Given the description of an element on the screen output the (x, y) to click on. 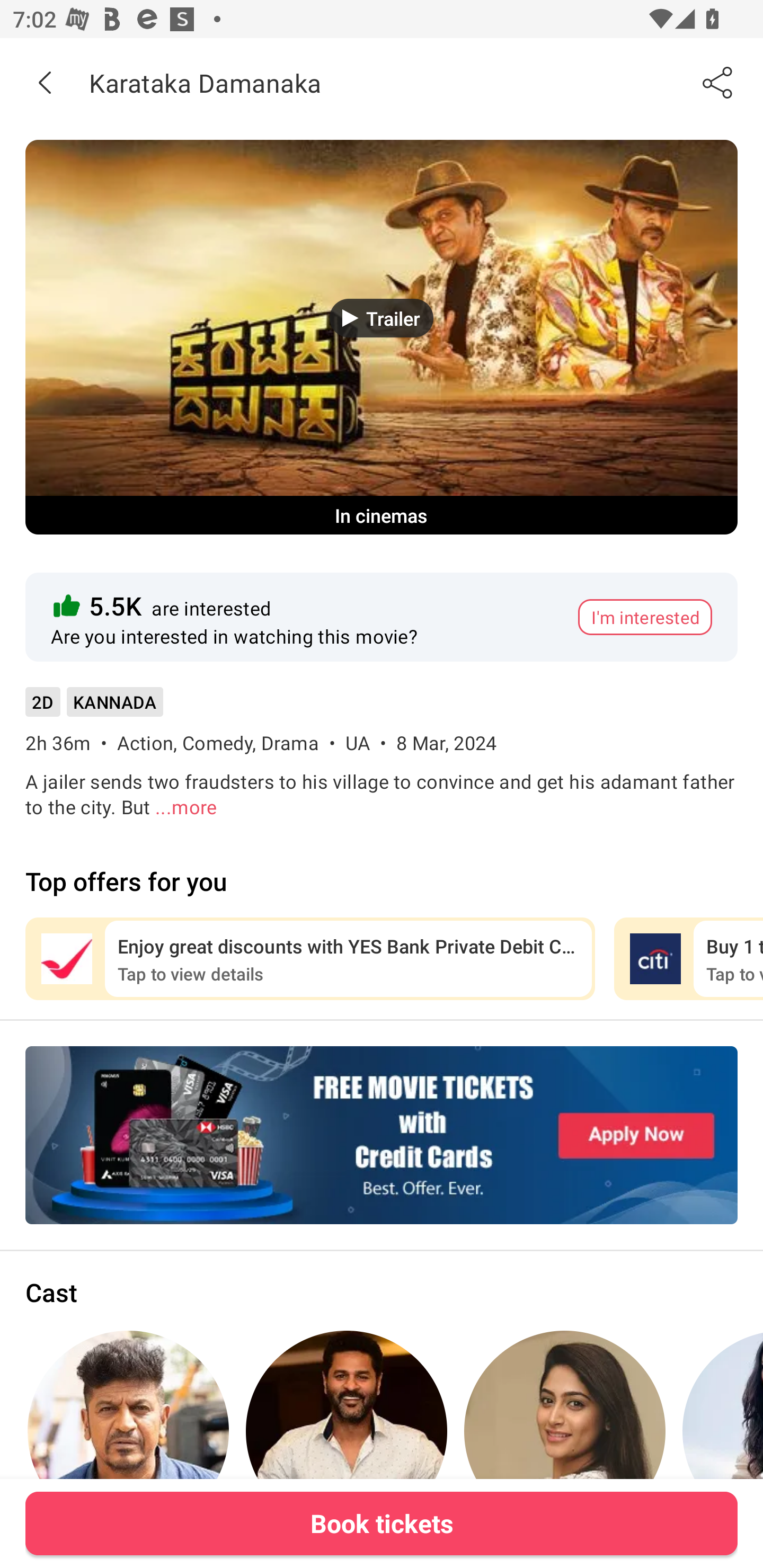
Back (44, 82)
Share (718, 82)
Movie Banner Trailer In cinemas (381, 336)
Trailer (381, 318)
I'm interested (644, 616)
2D KANNADA (94, 707)
Book tickets (381, 1523)
